Given the description of an element on the screen output the (x, y) to click on. 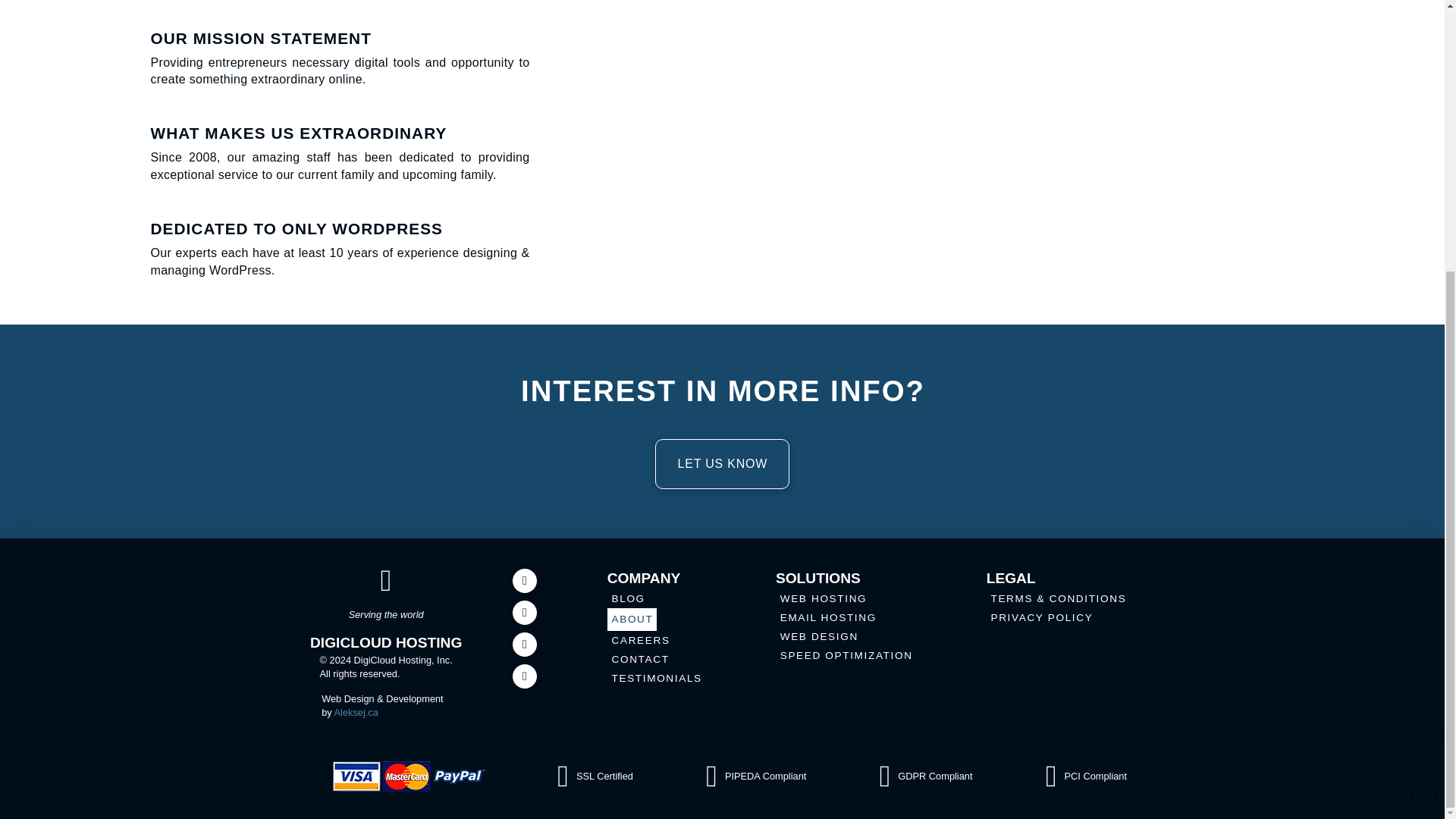
Back to Top (1423, 401)
WEB HOSTING (823, 598)
PRIVACY POLICY (1041, 617)
WEB DESIGN (818, 636)
TESTIMONIALS (655, 678)
BLOG (627, 598)
CAREERS (639, 640)
SPEED OPTIMIZATION (845, 656)
LET US KNOW (722, 463)
CONTACT (639, 659)
Aleksej.ca (356, 712)
EMAIL HOSTING (827, 617)
ABOUT (631, 619)
